Given the description of an element on the screen output the (x, y) to click on. 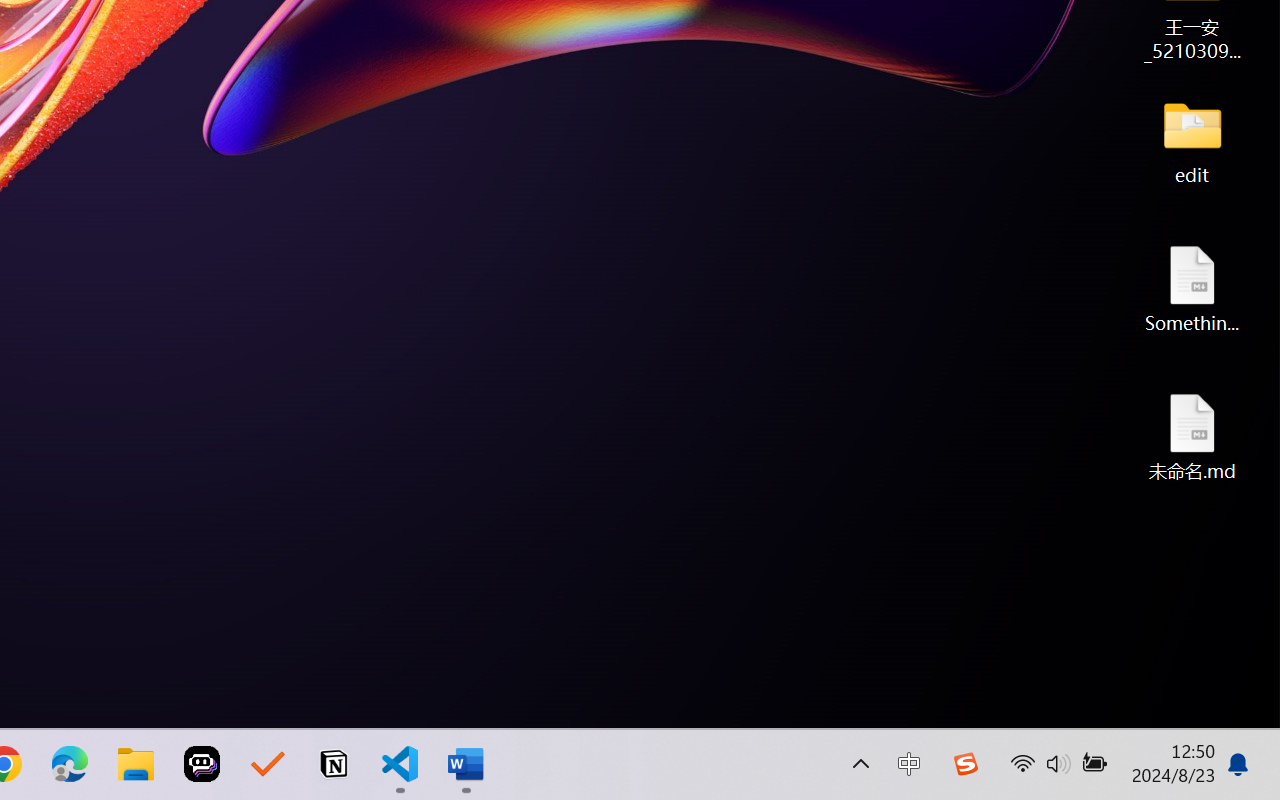
Something.md (1192, 288)
edit (1192, 140)
Microsoft Edge (69, 764)
